Given the description of an element on the screen output the (x, y) to click on. 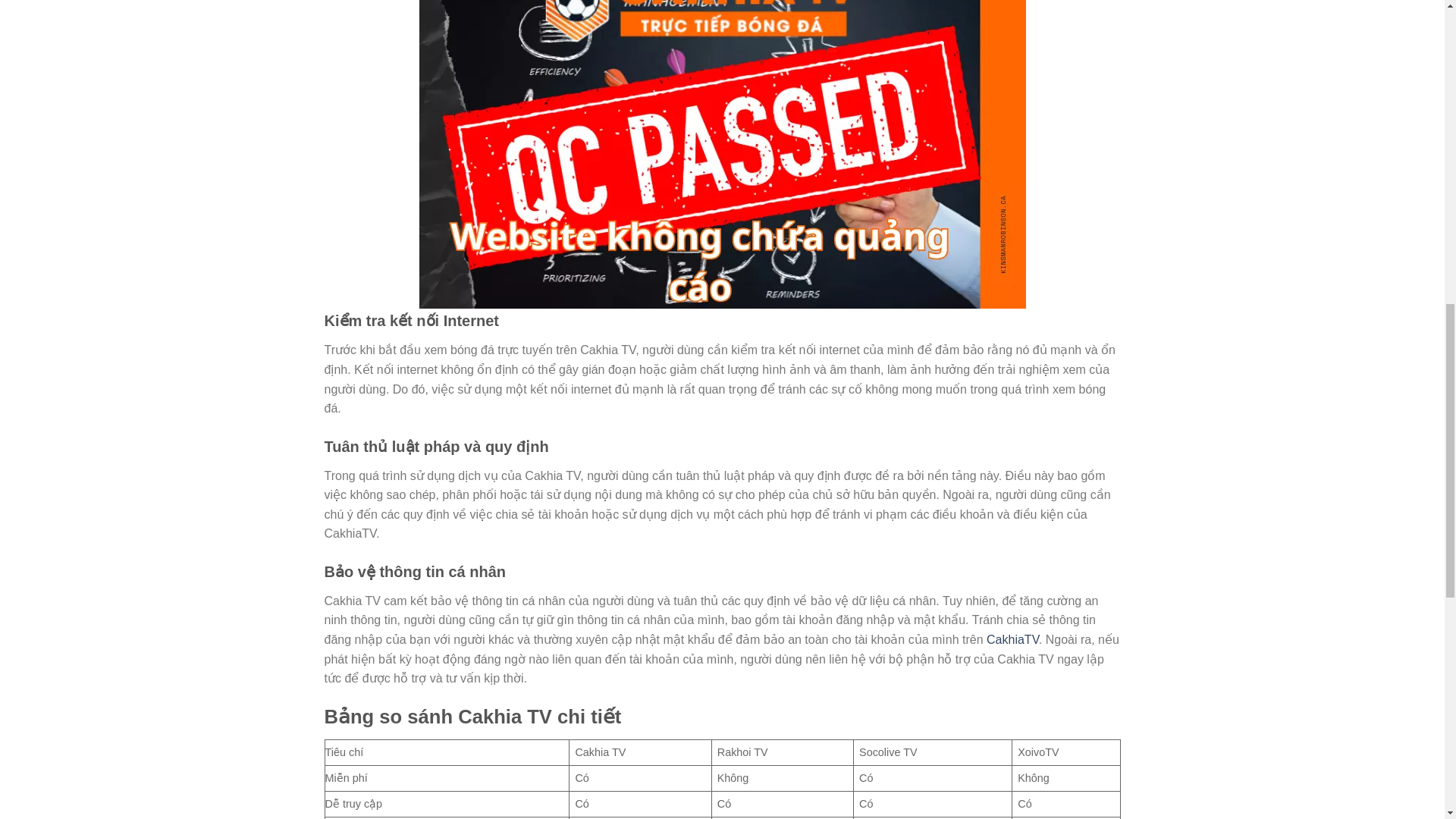
CakhiaTV (1013, 639)
